Given the description of an element on the screen output the (x, y) to click on. 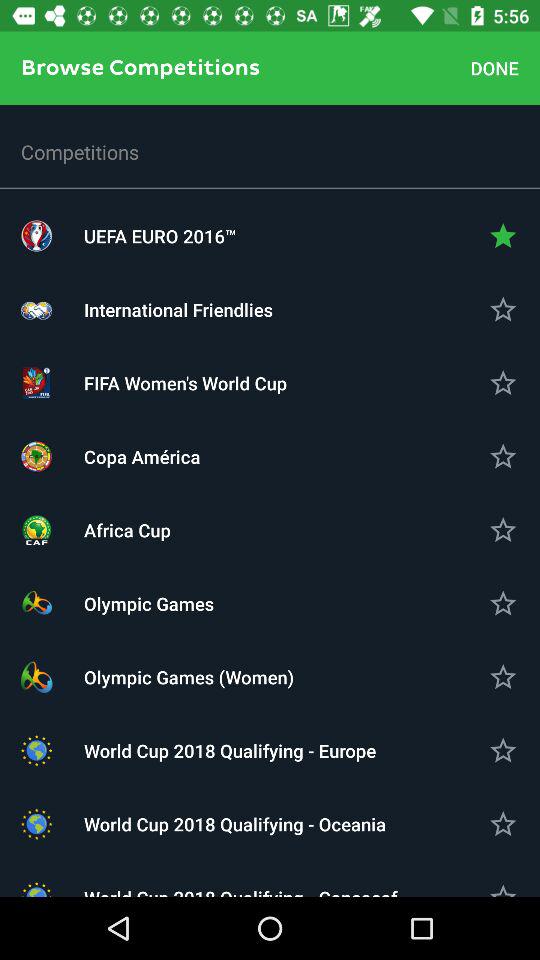
turn on international friendlies item (270, 309)
